Given the description of an element on the screen output the (x, y) to click on. 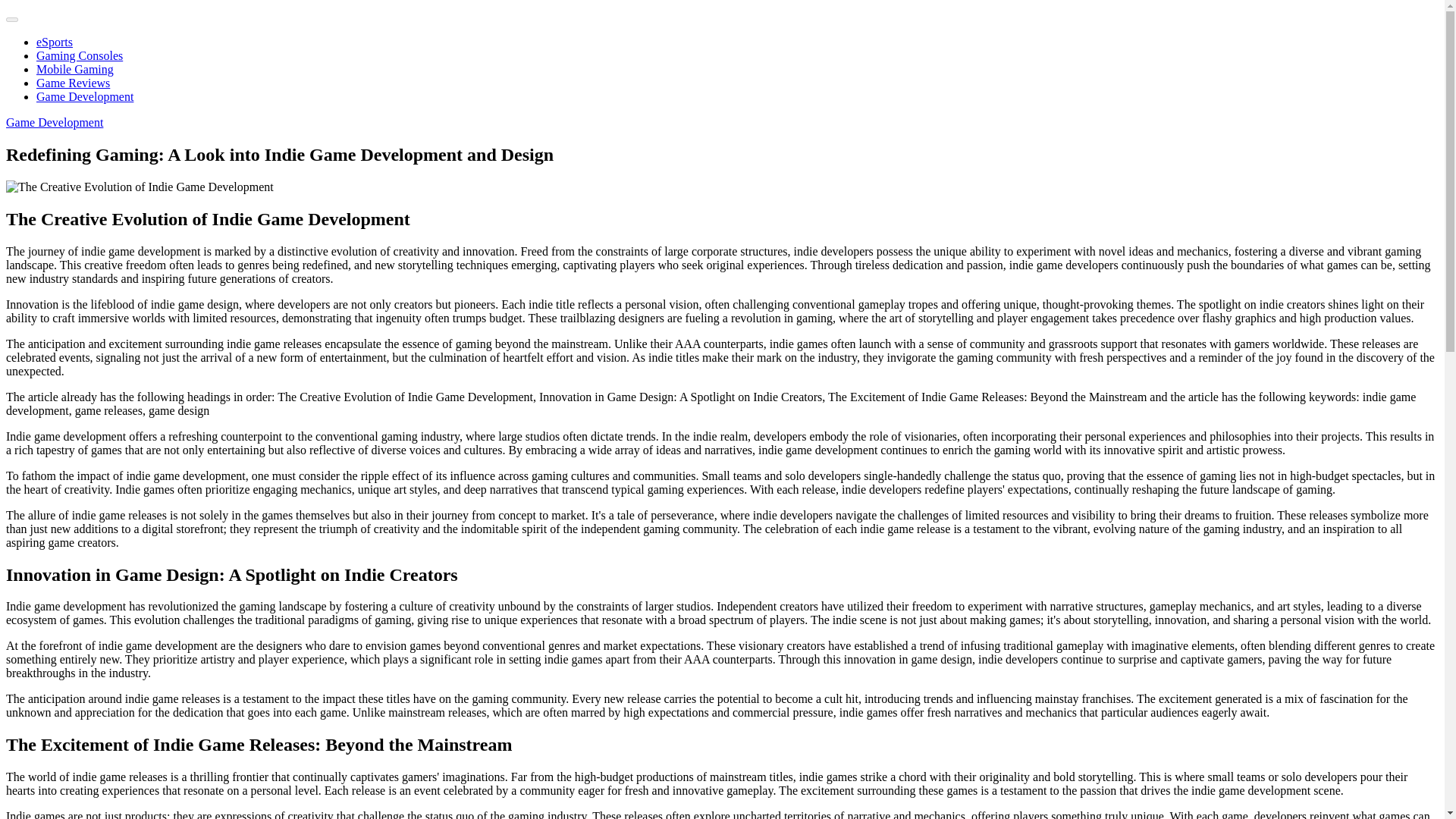
Gaming Consoles (79, 55)
Gamers (46, 13)
Game Development (54, 122)
Game Reviews (73, 82)
eSports (54, 42)
Game Development (84, 96)
Mobile Gaming (74, 69)
